Given the description of an element on the screen output the (x, y) to click on. 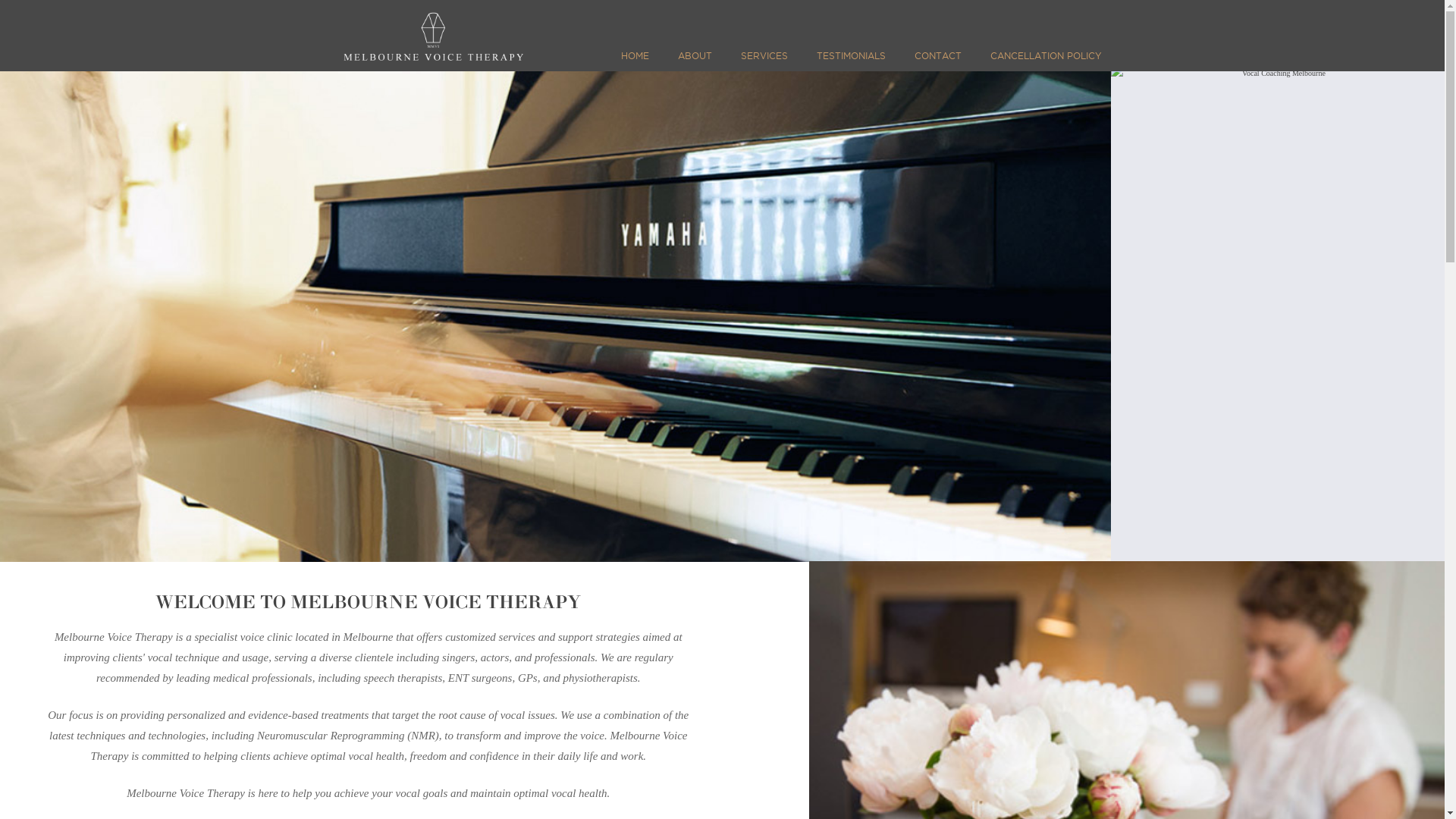
ABOUT Element type: text (694, 61)
CONTACT Element type: text (937, 61)
CANCELLATION POLICY Element type: text (1041, 61)
SERVICES Element type: text (763, 61)
TESTIMONIALS Element type: text (850, 61)
HOME Element type: text (637, 61)
